Given the description of an element on the screen output the (x, y) to click on. 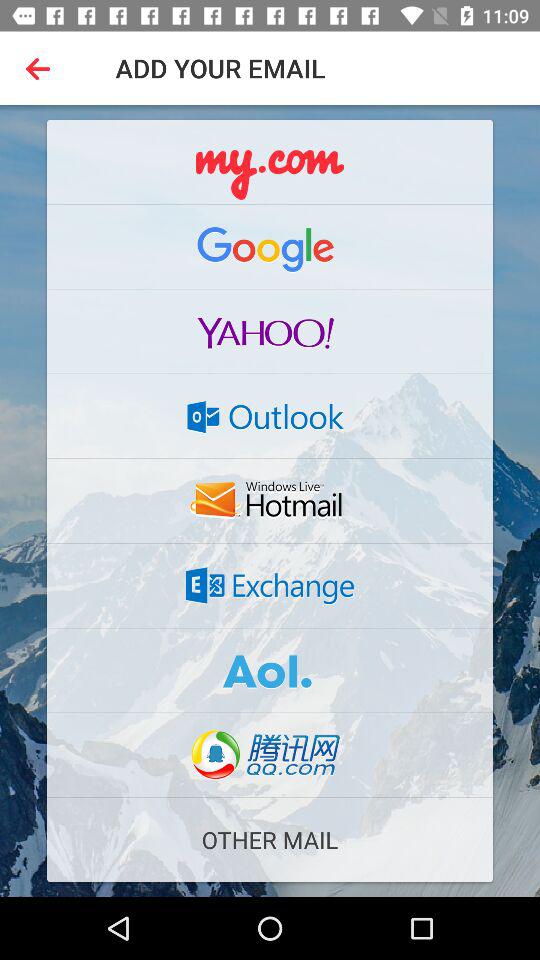
turn off app next to add your email (41, 68)
